Given the description of an element on the screen output the (x, y) to click on. 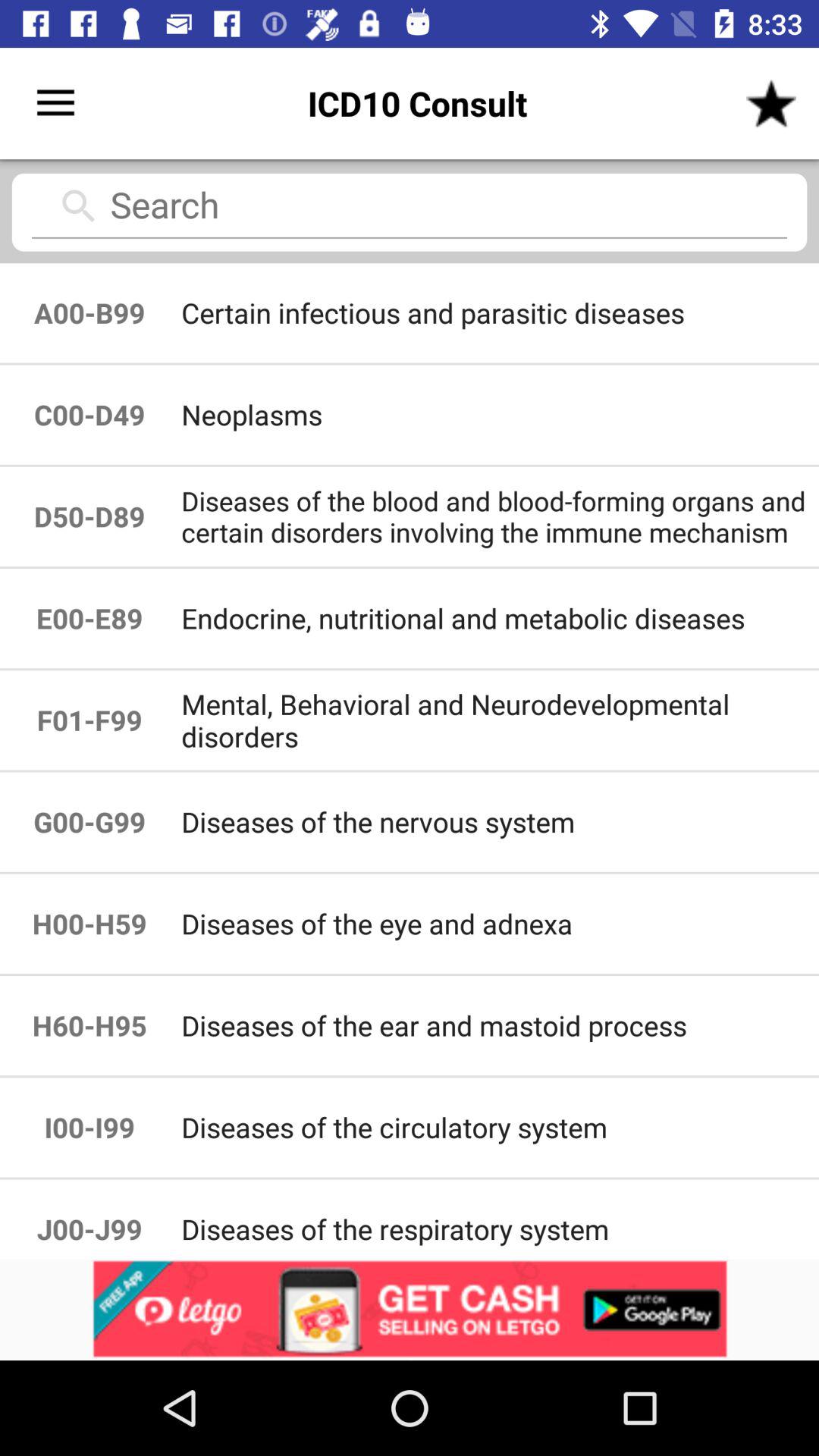
turn on the icon above the a00-b99 (409, 211)
